Given the description of an element on the screen output the (x, y) to click on. 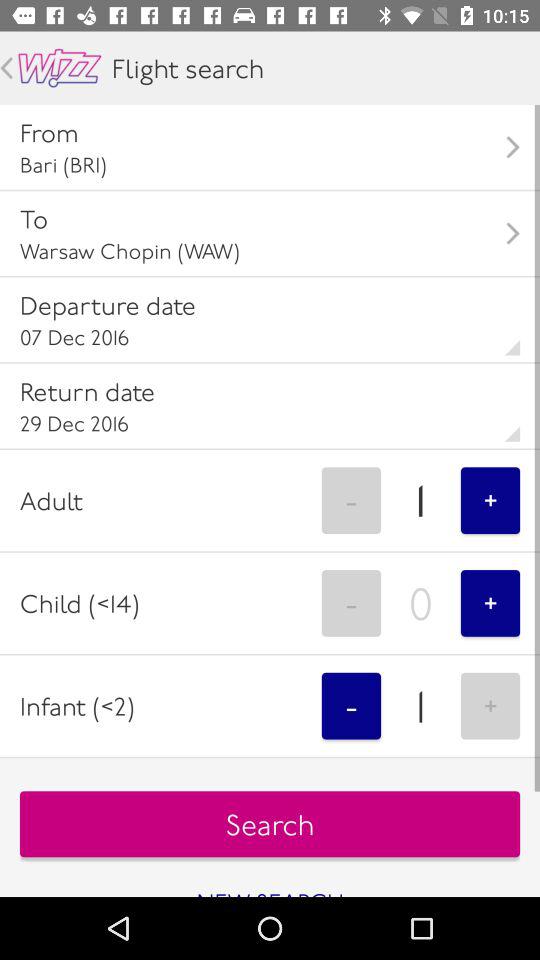
go back (6, 67)
